Given the description of an element on the screen output the (x, y) to click on. 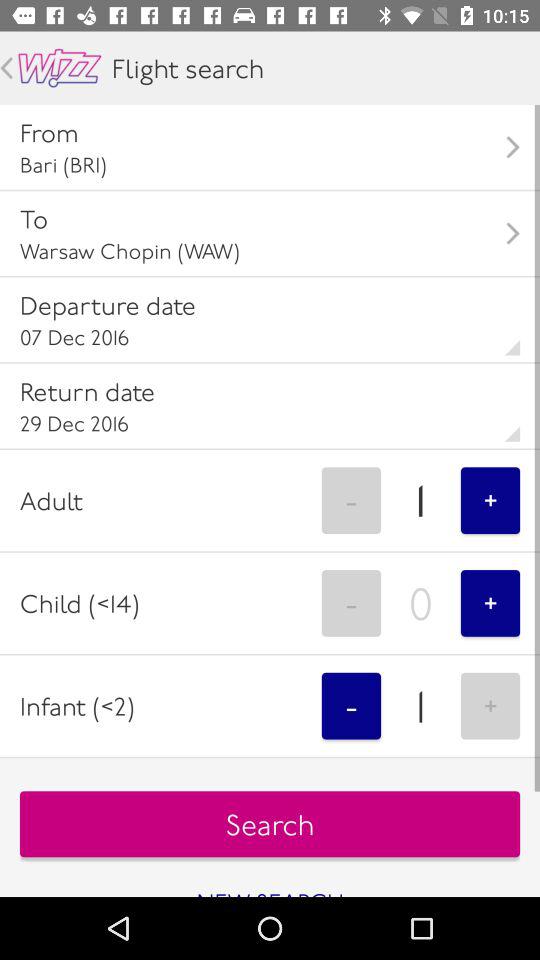
go back (6, 67)
